Given the description of an element on the screen output the (x, y) to click on. 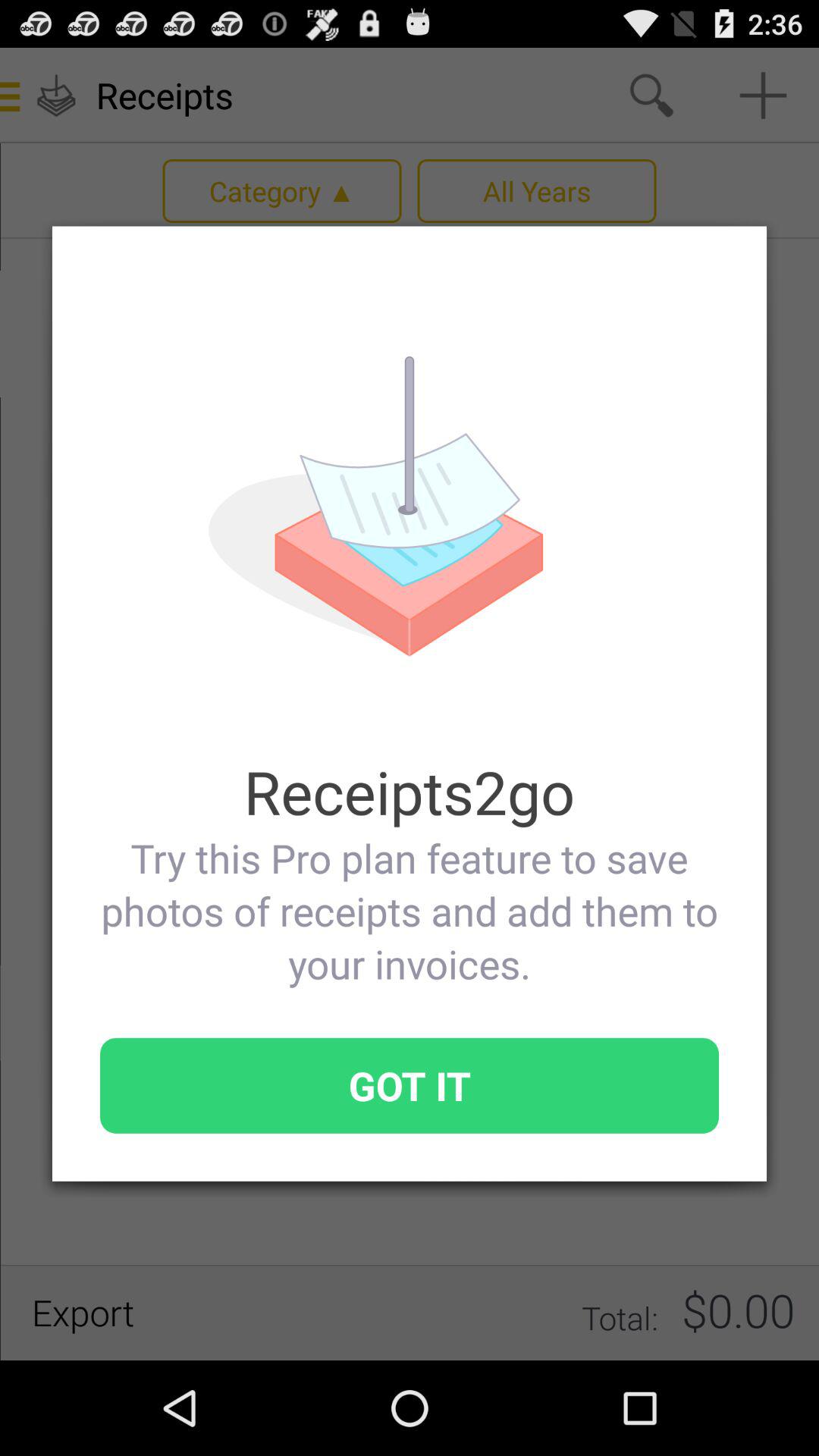
jump to got it item (409, 1085)
